Given the description of an element on the screen output the (x, y) to click on. 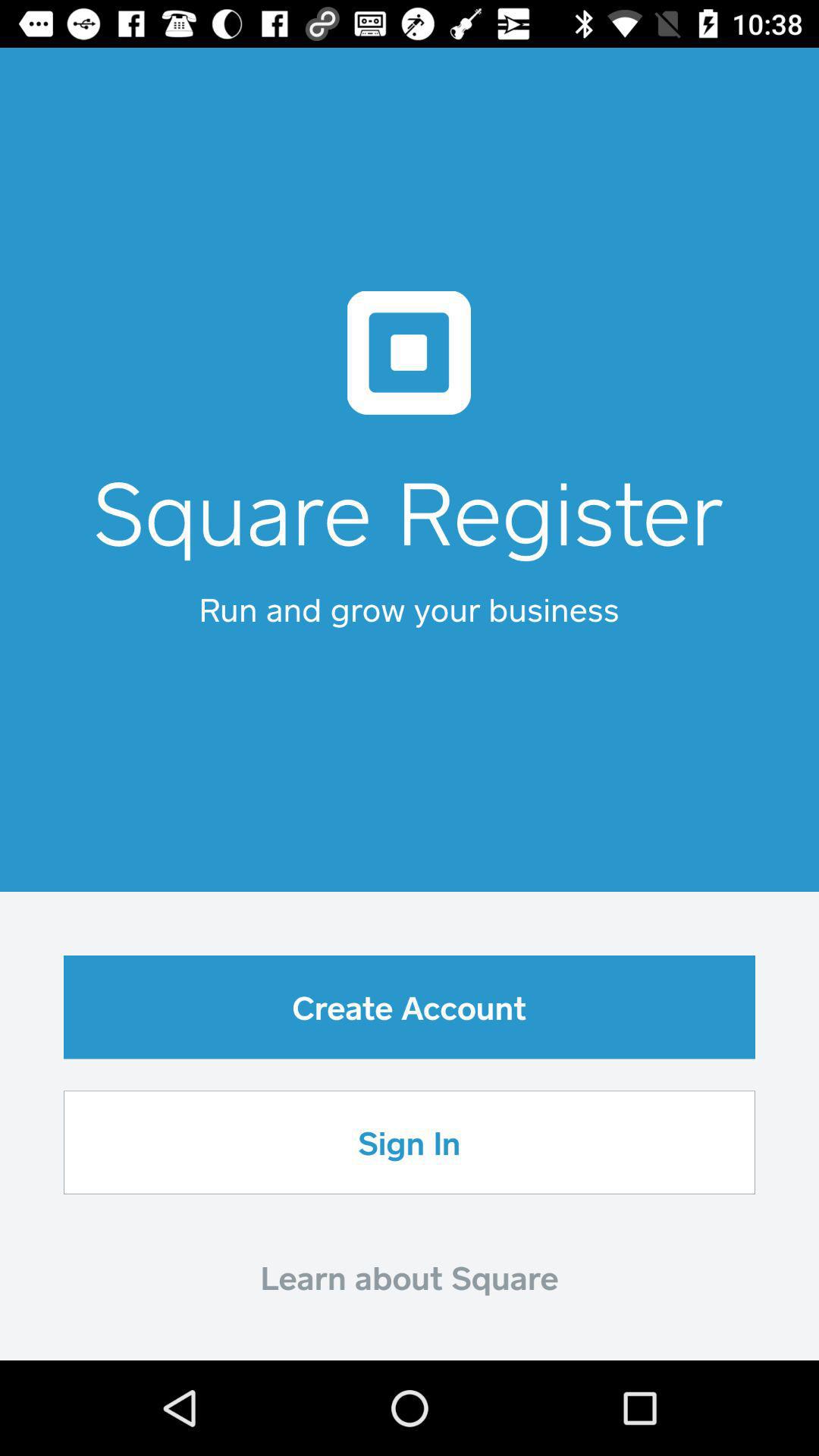
swipe to sign in item (409, 1142)
